Given the description of an element on the screen output the (x, y) to click on. 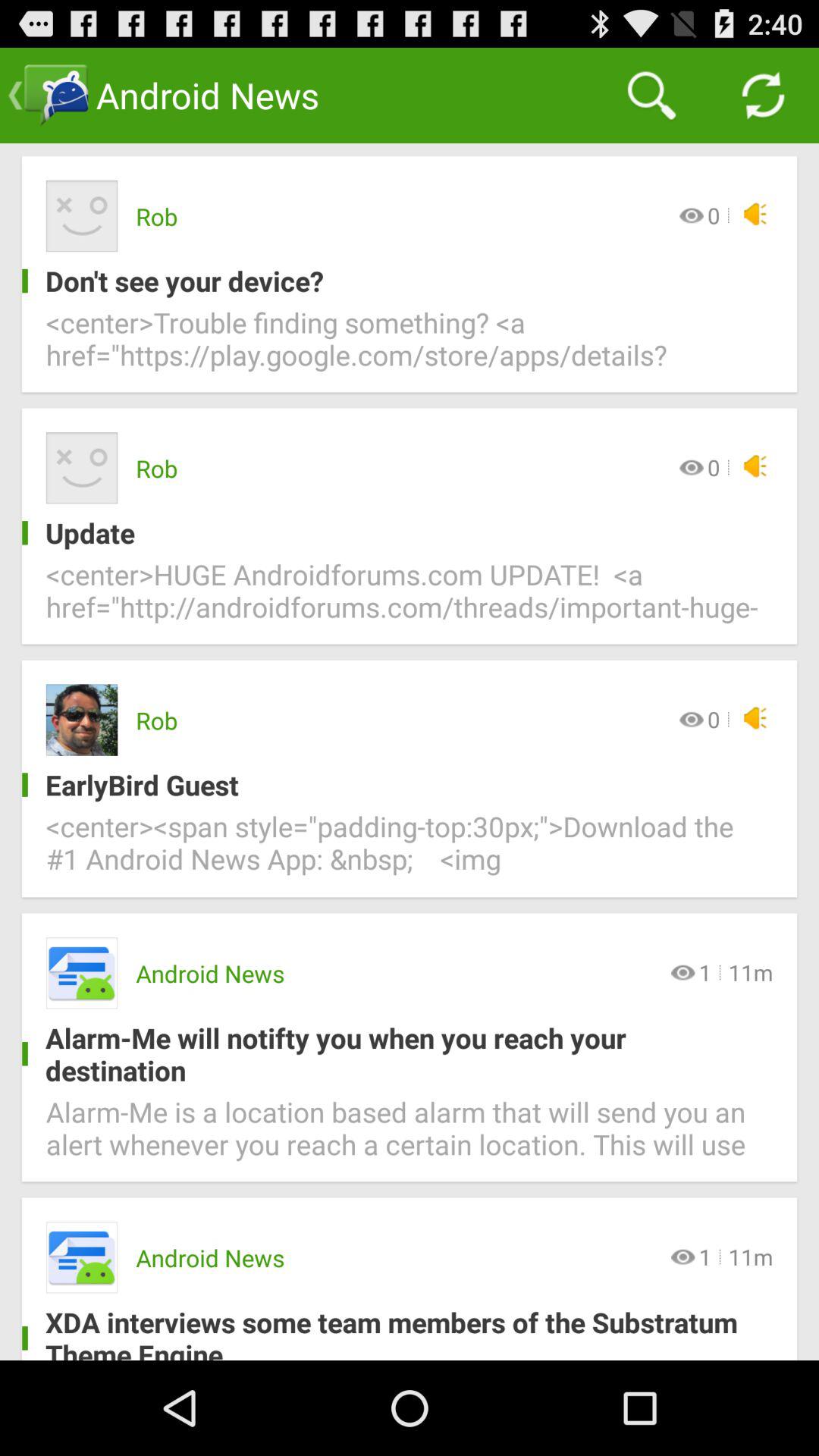
press item above the center trouble finding icon (397, 280)
